Given the description of an element on the screen output the (x, y) to click on. 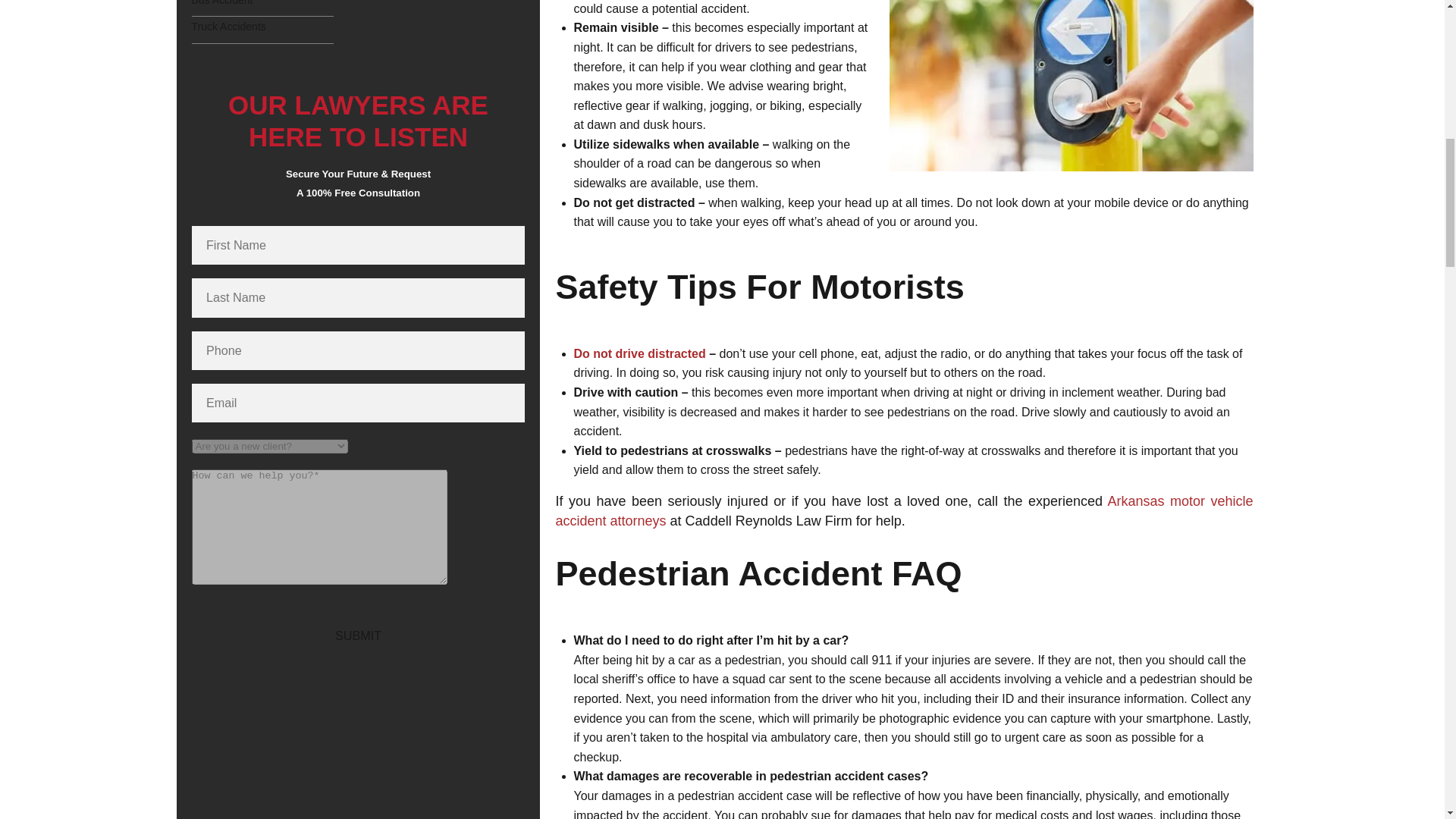
SUBMIT (357, 623)
